Given the description of an element on the screen output the (x, y) to click on. 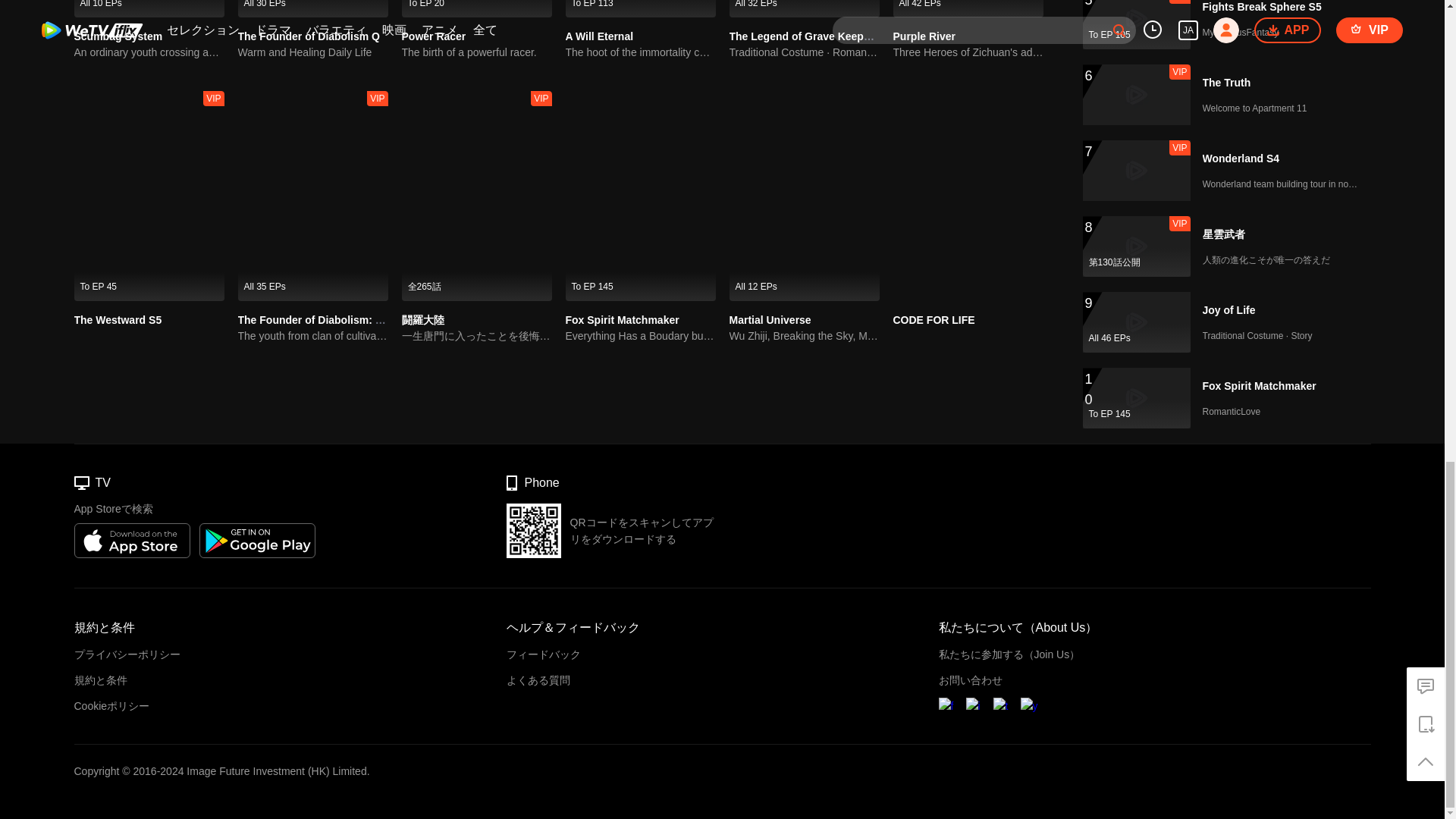
The Founder of Diabolism Q (309, 36)
The Legend of Grave Keepers (804, 8)
A Will Eternal (599, 36)
Power Racer (433, 36)
Purple River (924, 36)
Warm and Healing Daily Life (313, 52)
The birth of a powerful racer. (476, 52)
The Westward S5 (117, 319)
Purple River (968, 8)
The Legend of Grave Keepers (804, 36)
